Given the description of an element on the screen output the (x, y) to click on. 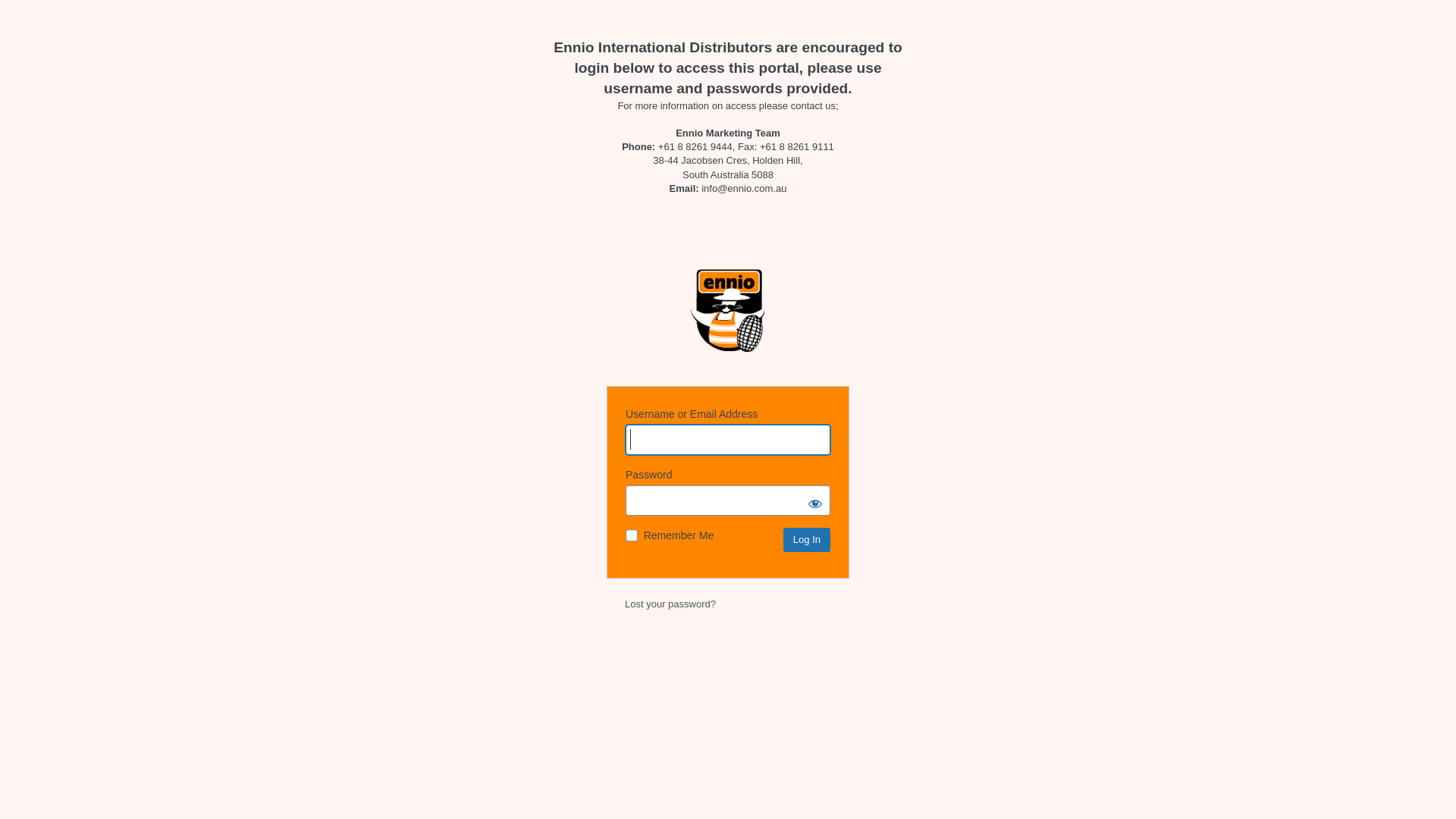
Log In Element type: text (806, 539)
Powered by WordPress Element type: text (727, 317)
Lost your password? Element type: text (669, 603)
